Given the description of an element on the screen output the (x, y) to click on. 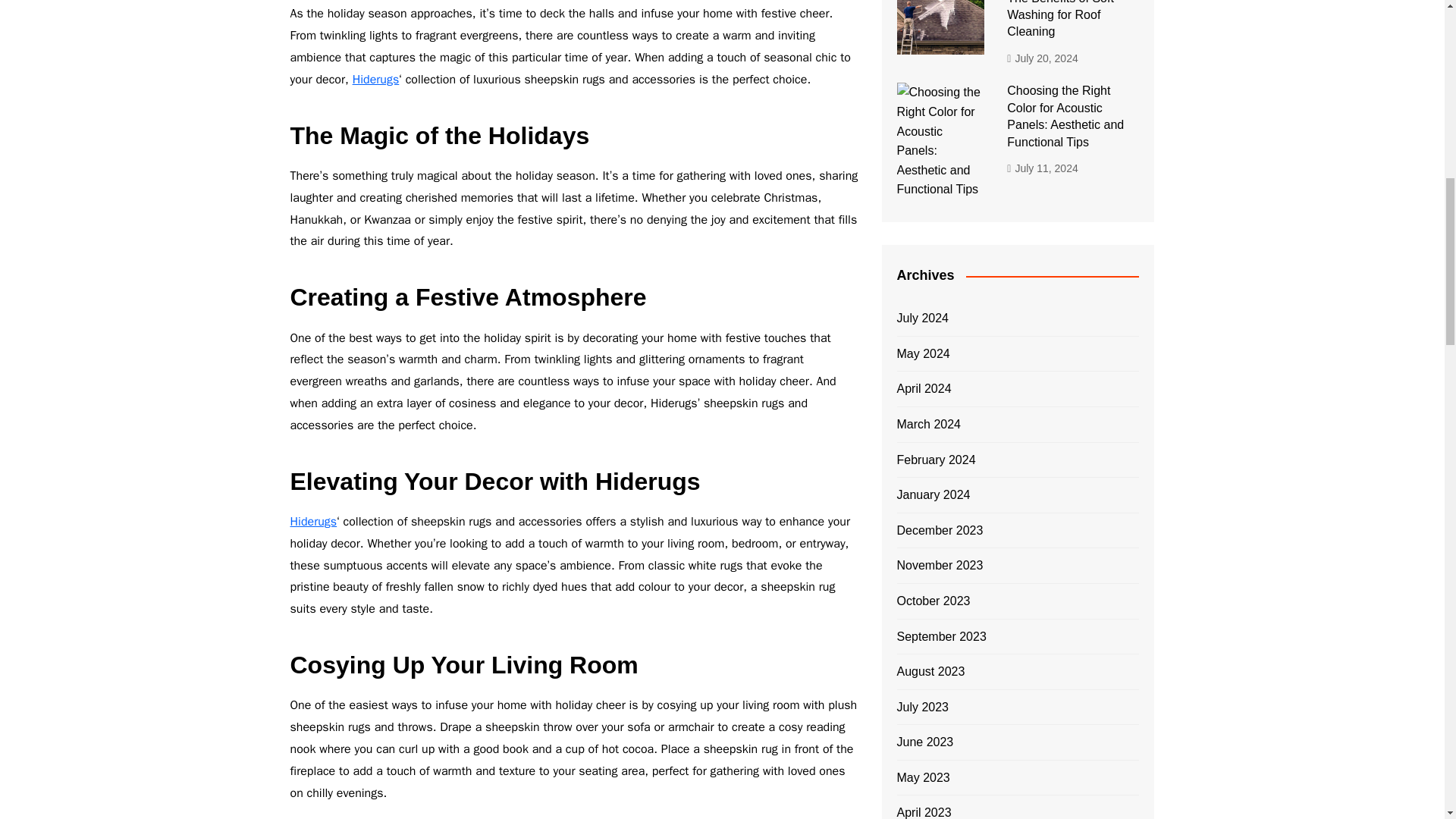
Hiderugs (312, 521)
Hiderugs (375, 79)
